Given the description of an element on the screen output the (x, y) to click on. 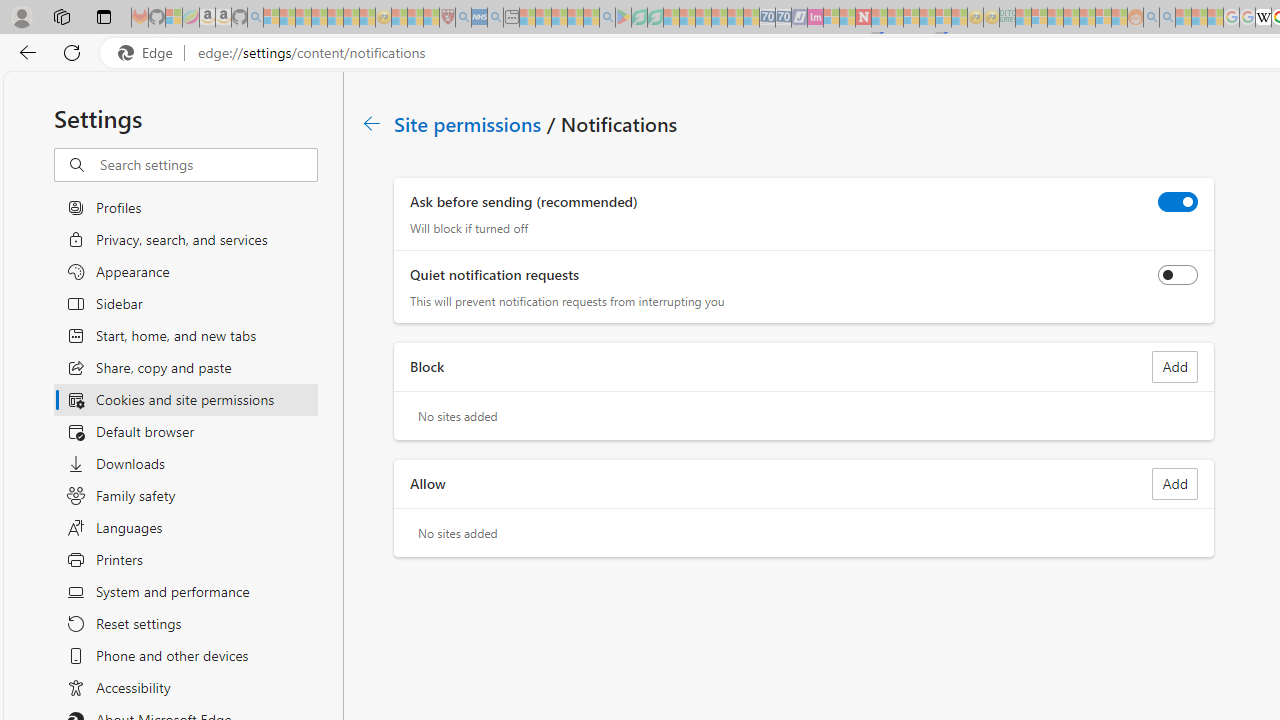
google - Search - Sleeping (607, 17)
MSNBC - MSN - Sleeping (1023, 17)
Terms of Use Agreement - Sleeping (639, 17)
Microsoft Start - Sleeping (1183, 17)
Cheap Hotels - Save70.com - Sleeping (783, 17)
Cheap Car Rentals - Save70.com - Sleeping (767, 17)
Search settings (207, 165)
